Given the description of an element on the screen output the (x, y) to click on. 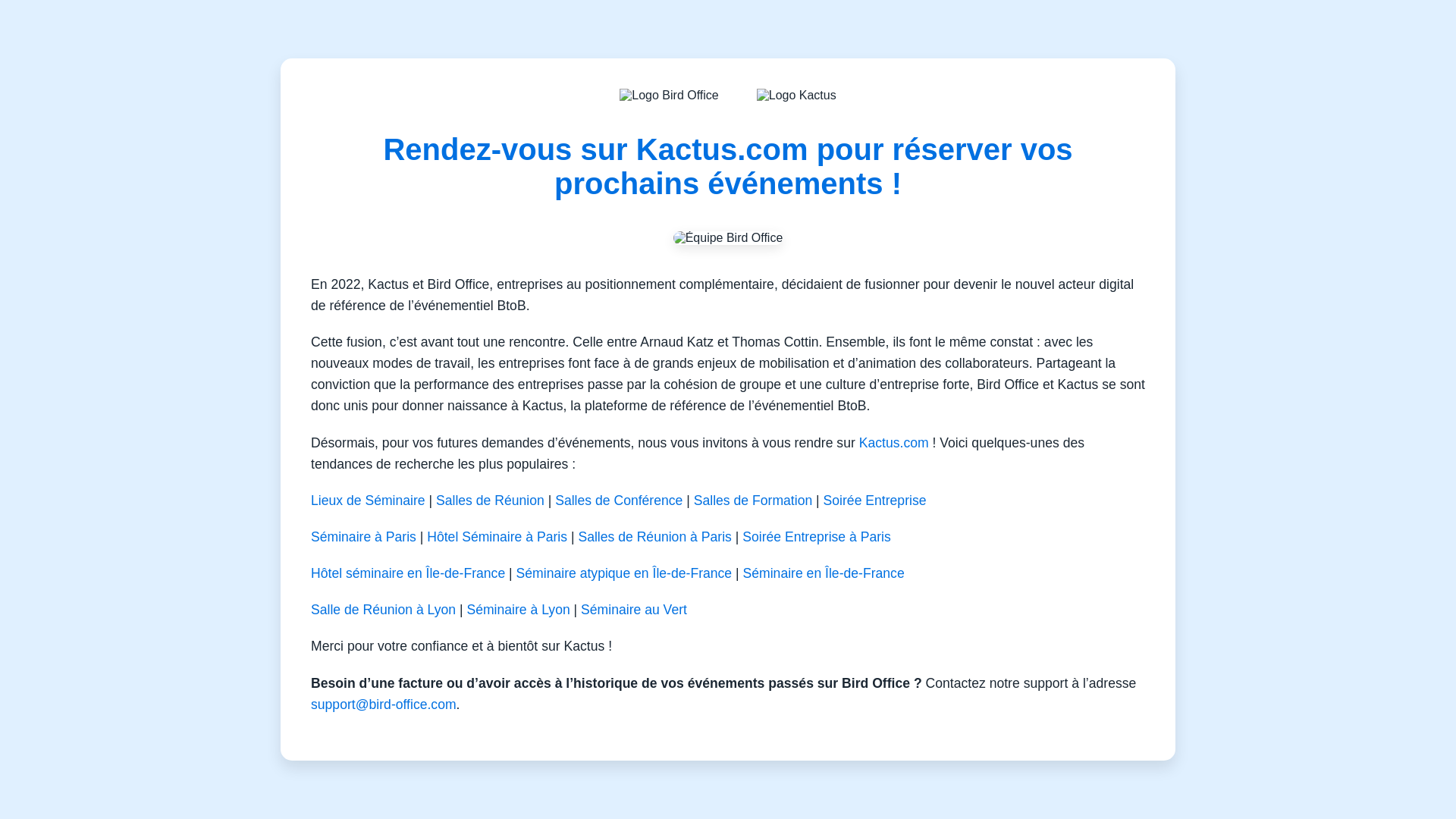
Kactus.com (893, 442)
Salles de Formation (753, 500)
